Given the description of an element on the screen output the (x, y) to click on. 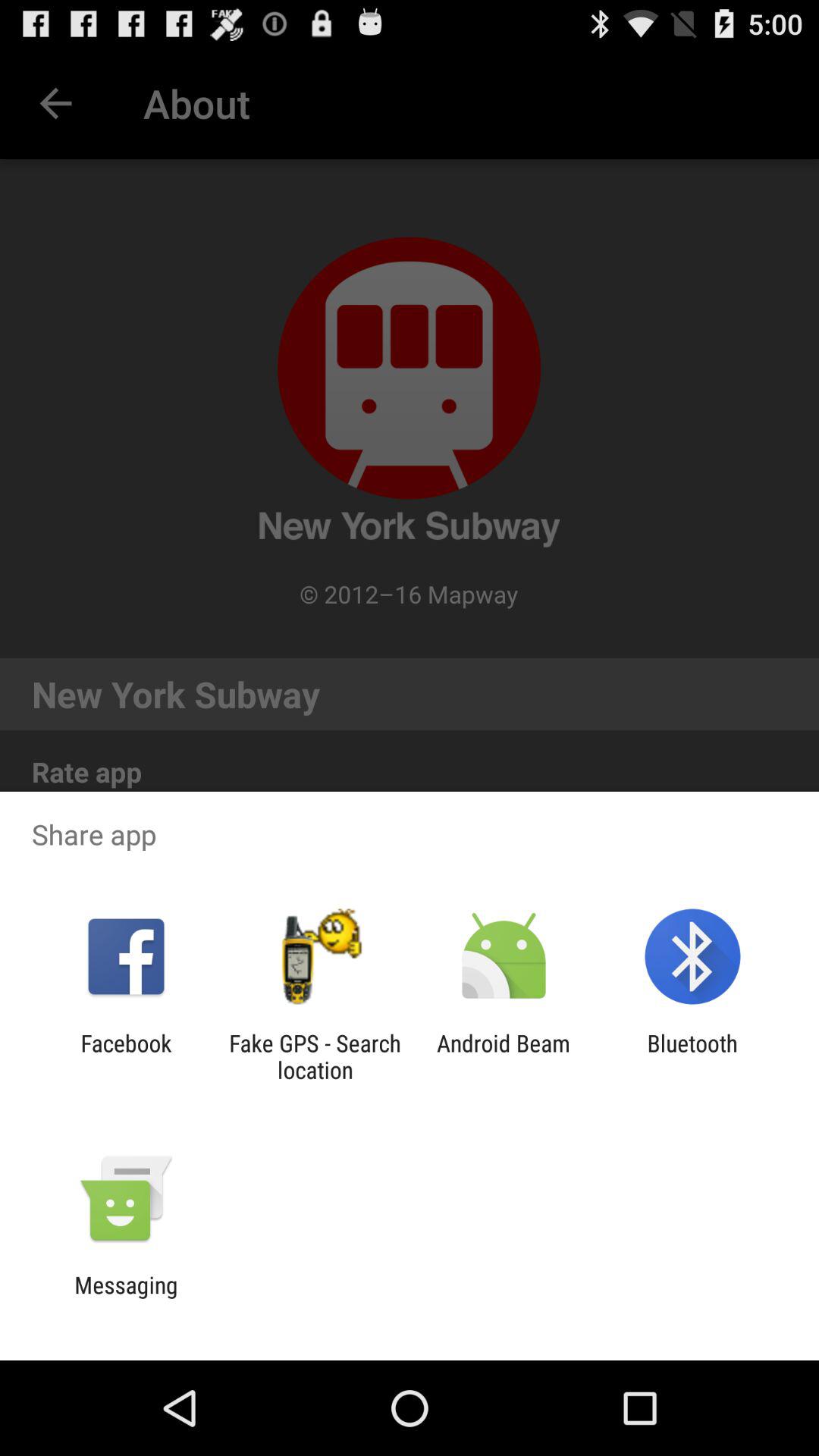
press the bluetooth item (692, 1056)
